Given the description of an element on the screen output the (x, y) to click on. 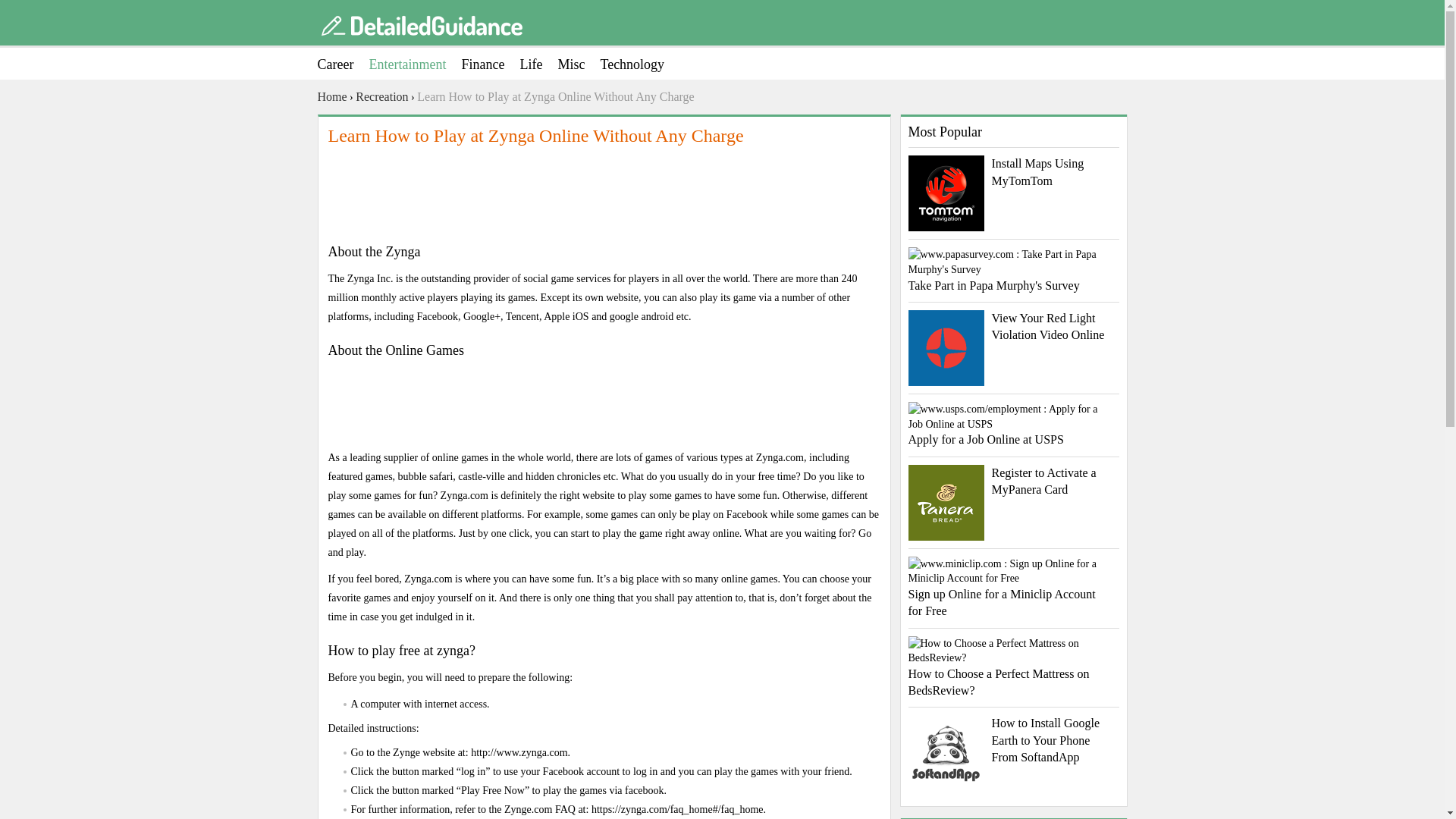
Install Maps Using MyTomTom (1013, 172)
Finance (490, 64)
View Your Red Light Violation Video Online (1013, 326)
How to Choose a Perfect Mattress on BedsReview? (1013, 668)
Misc (578, 64)
Technology (639, 64)
Take Part in Papa Murphy's Survey (1013, 270)
Entertainment (414, 64)
Register to Activate a MyPanera Card (1013, 481)
Apply for a Job Online at USPS (1013, 425)
